Given the description of an element on the screen output the (x, y) to click on. 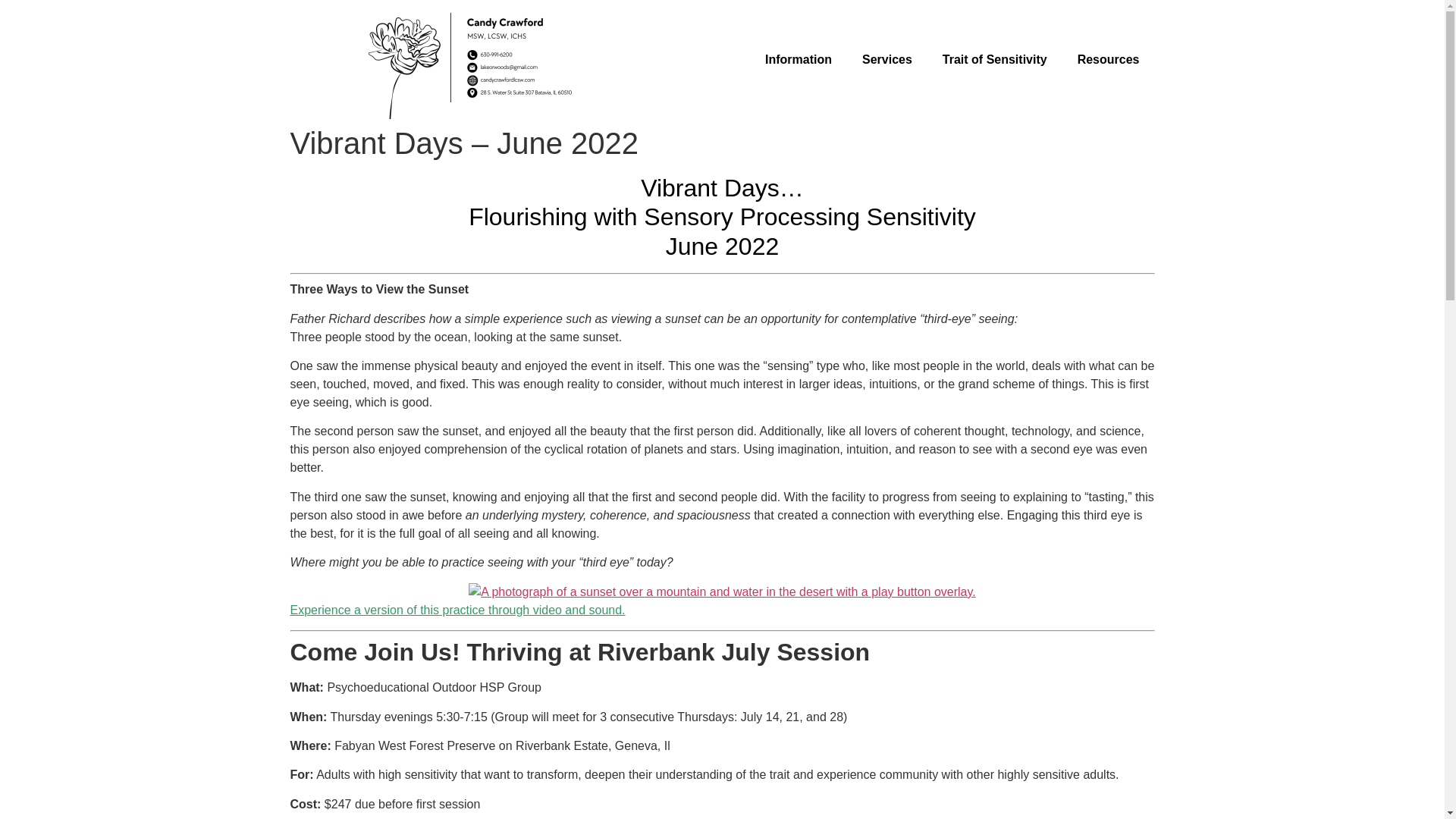
Information (798, 59)
Trait of Sensitivity (994, 59)
Resources (1108, 59)
Services (887, 59)
